Given the description of an element on the screen output the (x, y) to click on. 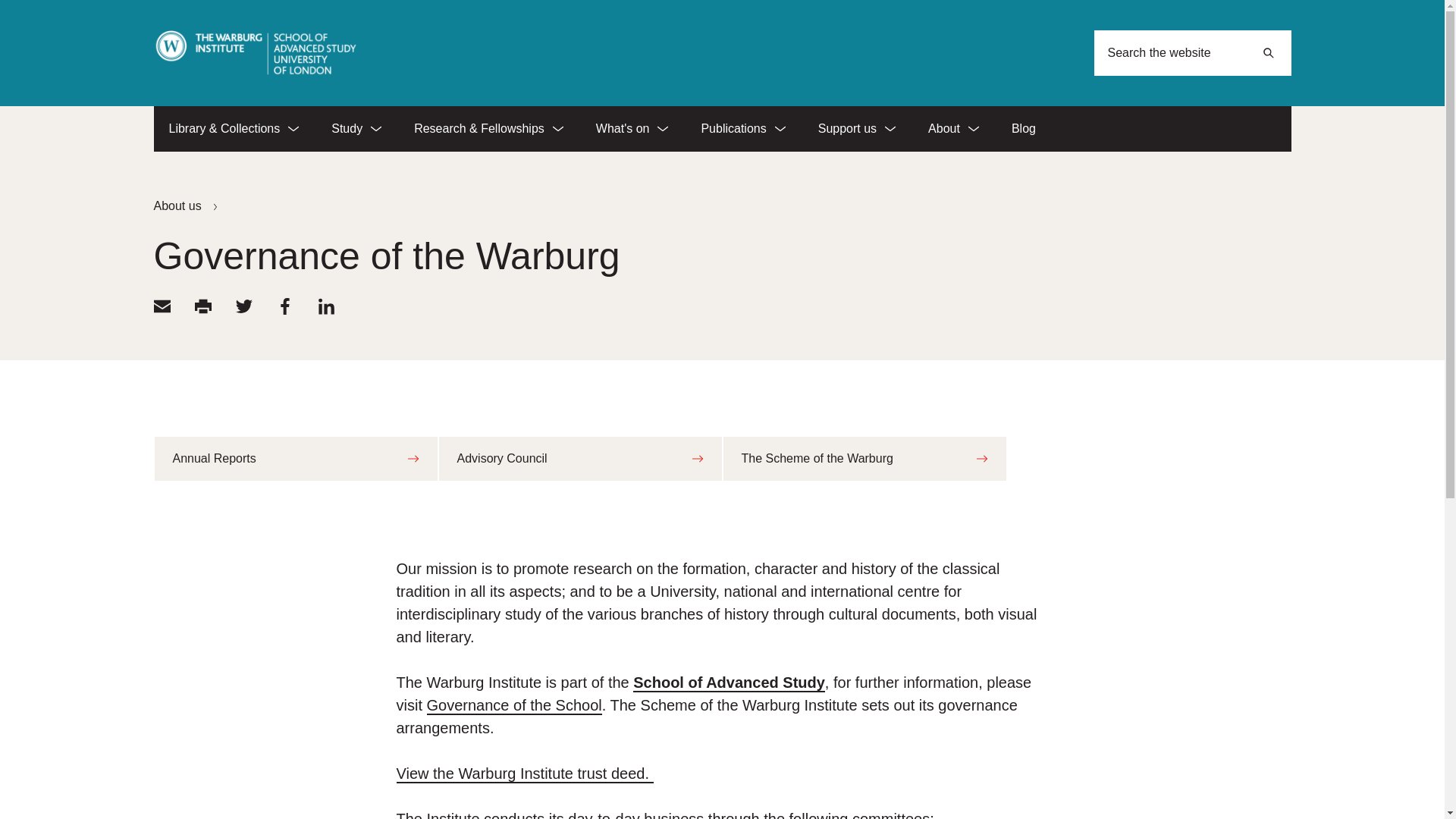
Home (254, 53)
Blog (1023, 128)
What's on (632, 128)
Study (356, 128)
Support us (857, 128)
About (953, 128)
Publications (743, 128)
